Given the description of an element on the screen output the (x, y) to click on. 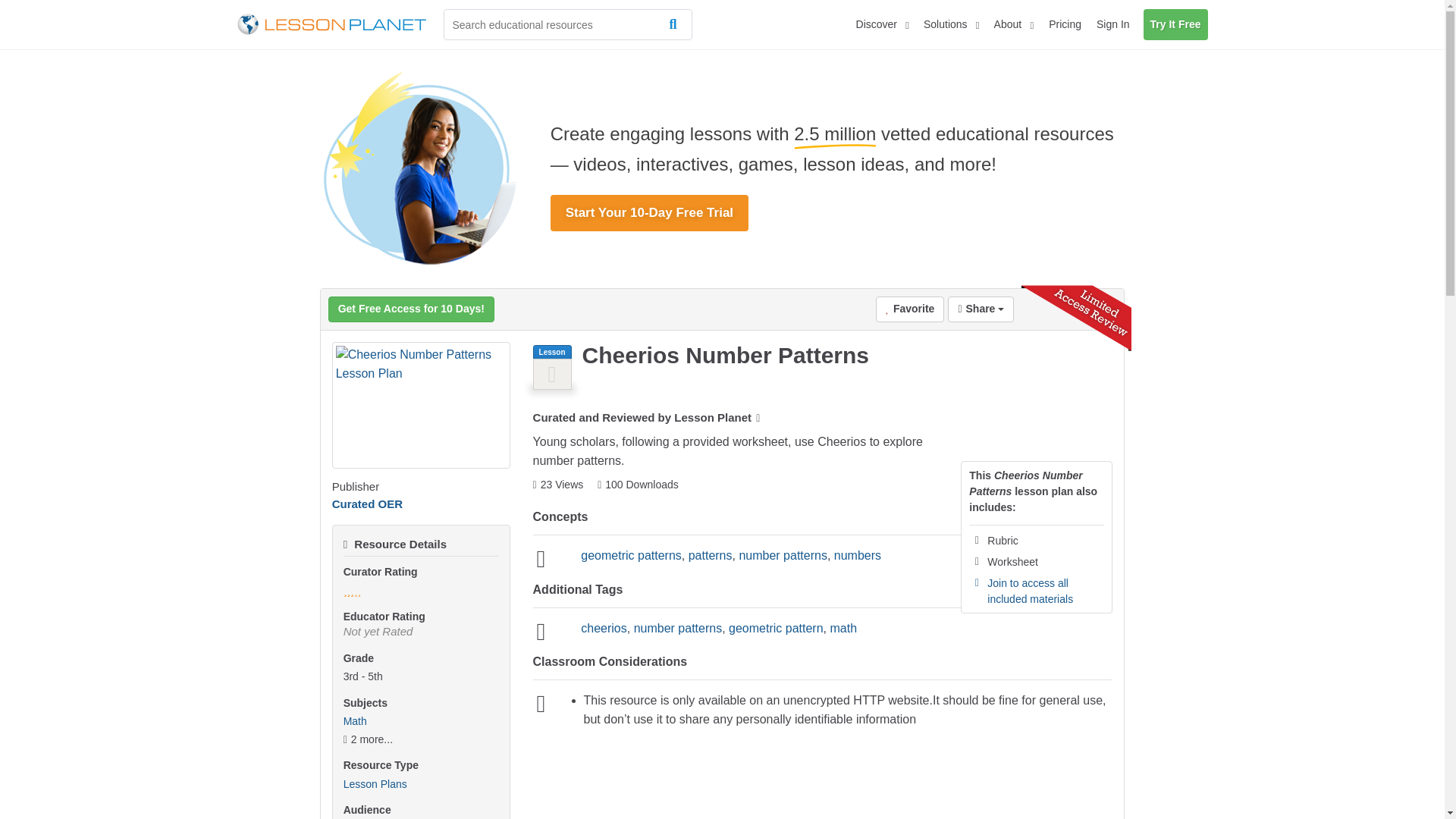
Favorite (909, 309)
Lesson Plans (375, 784)
Join to access all included materials (1030, 590)
Pricing (1065, 24)
patterns (710, 554)
number patterns (782, 554)
Grade (421, 676)
Sign In (1113, 24)
Cheerios Number Patterns Lesson Plan (421, 405)
numbers (857, 554)
